Given the description of an element on the screen output the (x, y) to click on. 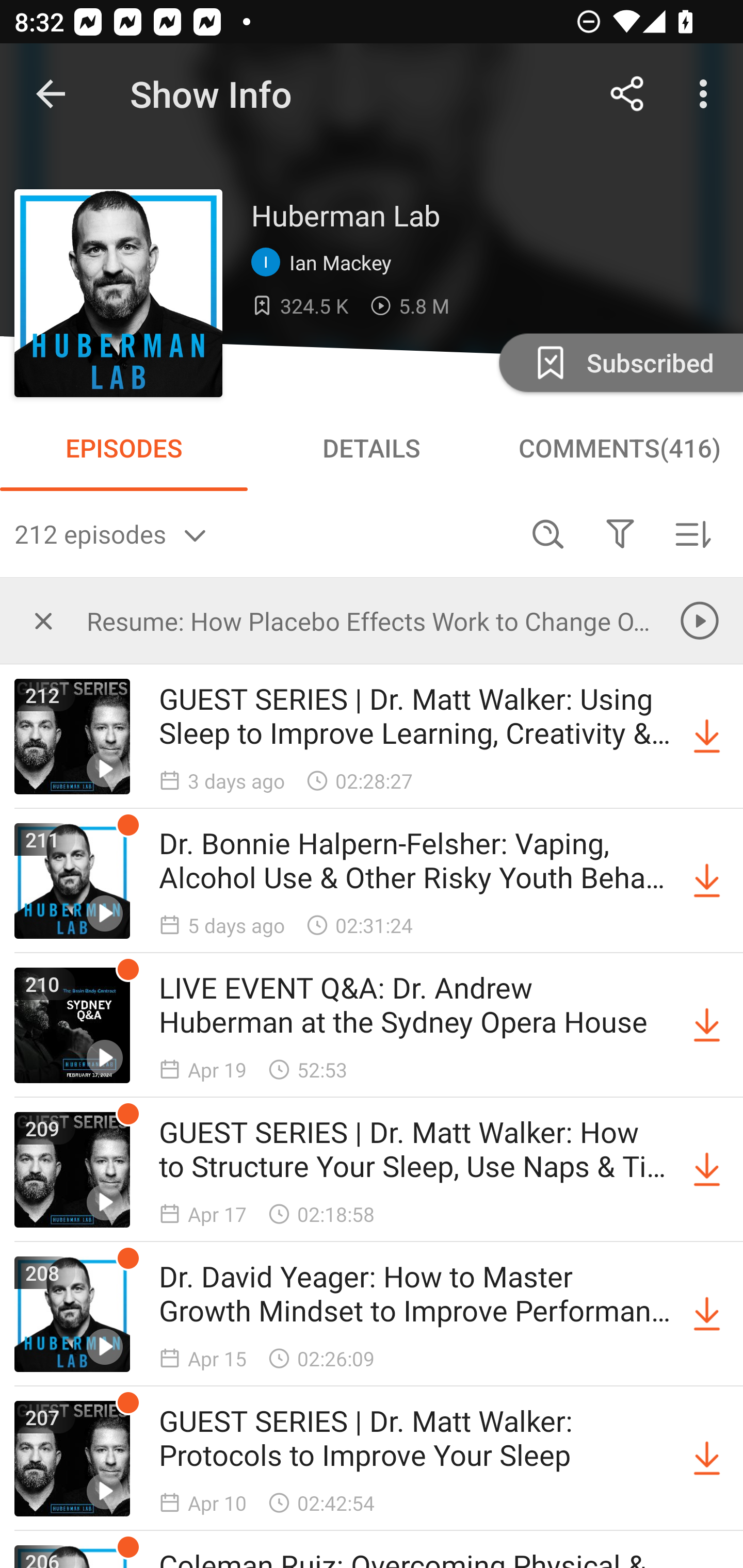
Navigate up (50, 93)
Share (626, 93)
More options (706, 93)
Ian Mackey (326, 262)
Unsubscribe Subscribed (619, 361)
EPISODES (123, 447)
DETAILS (371, 447)
COMMENTS(416) (619, 447)
212 episodes  (262, 533)
 Search (547, 533)
 (619, 533)
 Sorted by newest first (692, 533)
 (43, 620)
Download (706, 736)
Download (706, 881)
Download (706, 1025)
Download (706, 1169)
Download (706, 1313)
Download (706, 1458)
